Given the description of an element on the screen output the (x, y) to click on. 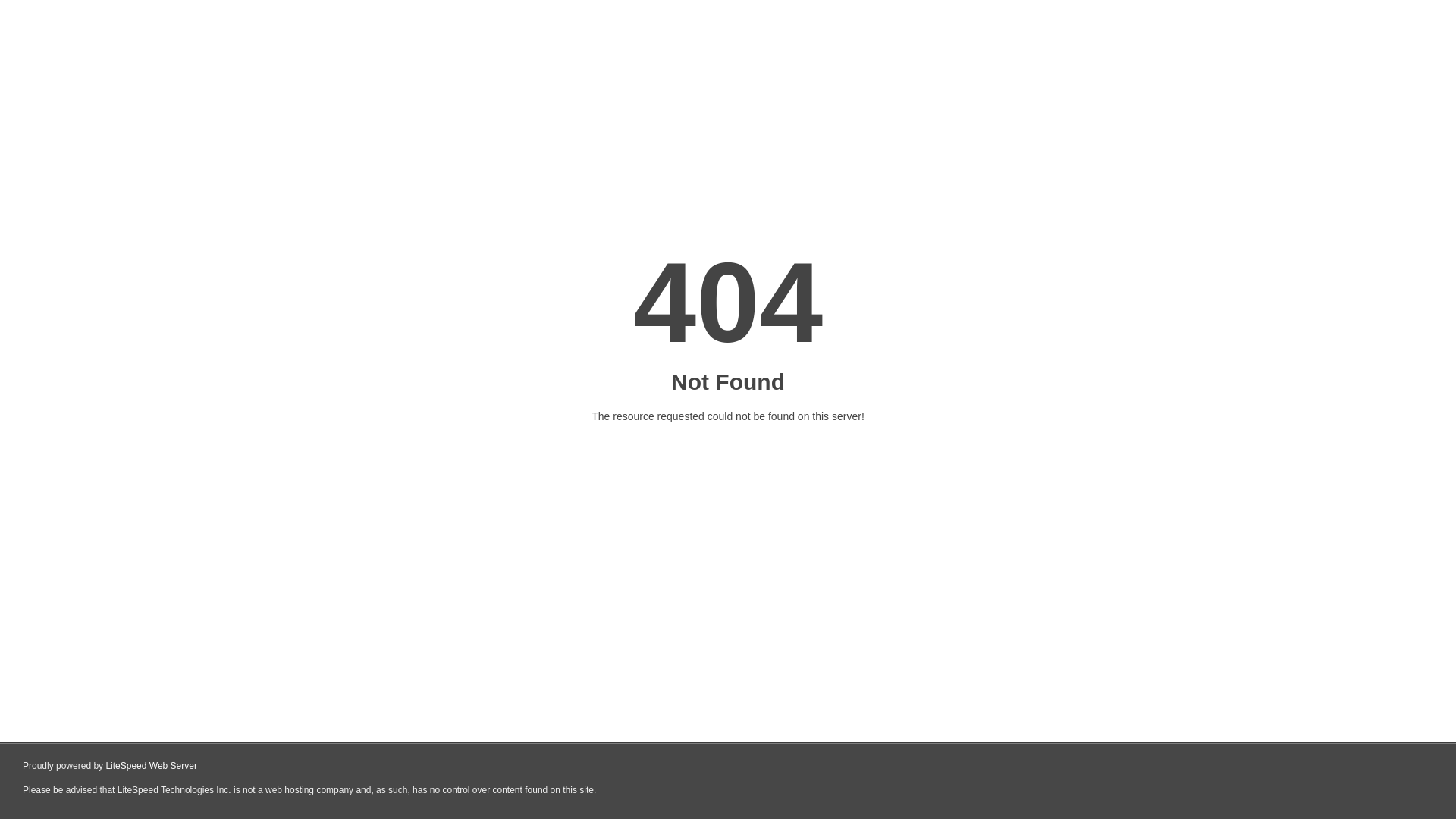
LiteSpeed Web Server Element type: text (151, 765)
